Given the description of an element on the screen output the (x, y) to click on. 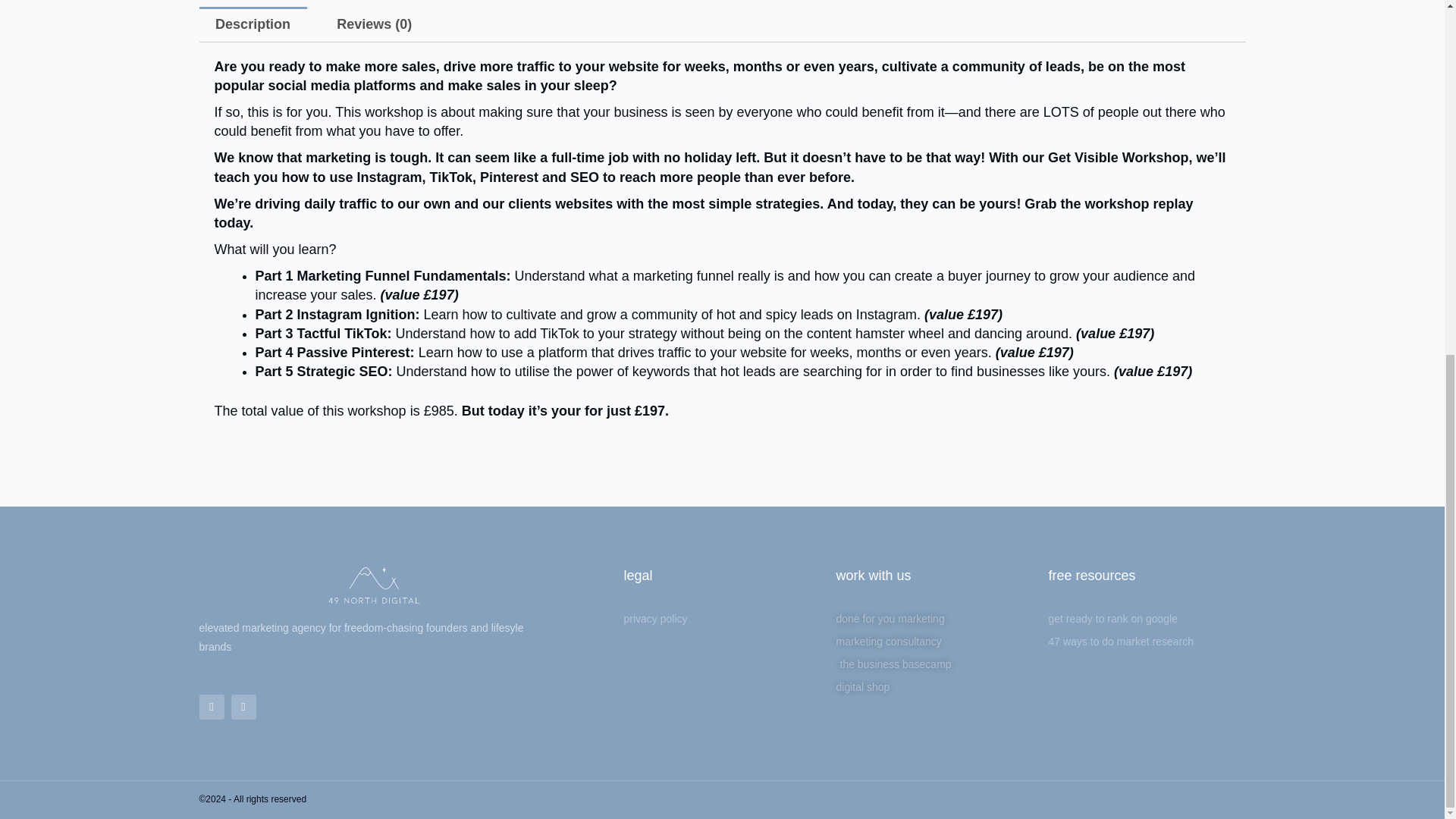
Tiktok (243, 706)
get ready to rank on google (1146, 618)
marketing consultancy (933, 641)
Description (251, 24)
privacy policy (722, 618)
47 ways to do market research (1146, 641)
Instagram (211, 706)
done for you marketing (933, 618)
the business basecamp (933, 664)
